Given the description of an element on the screen output the (x, y) to click on. 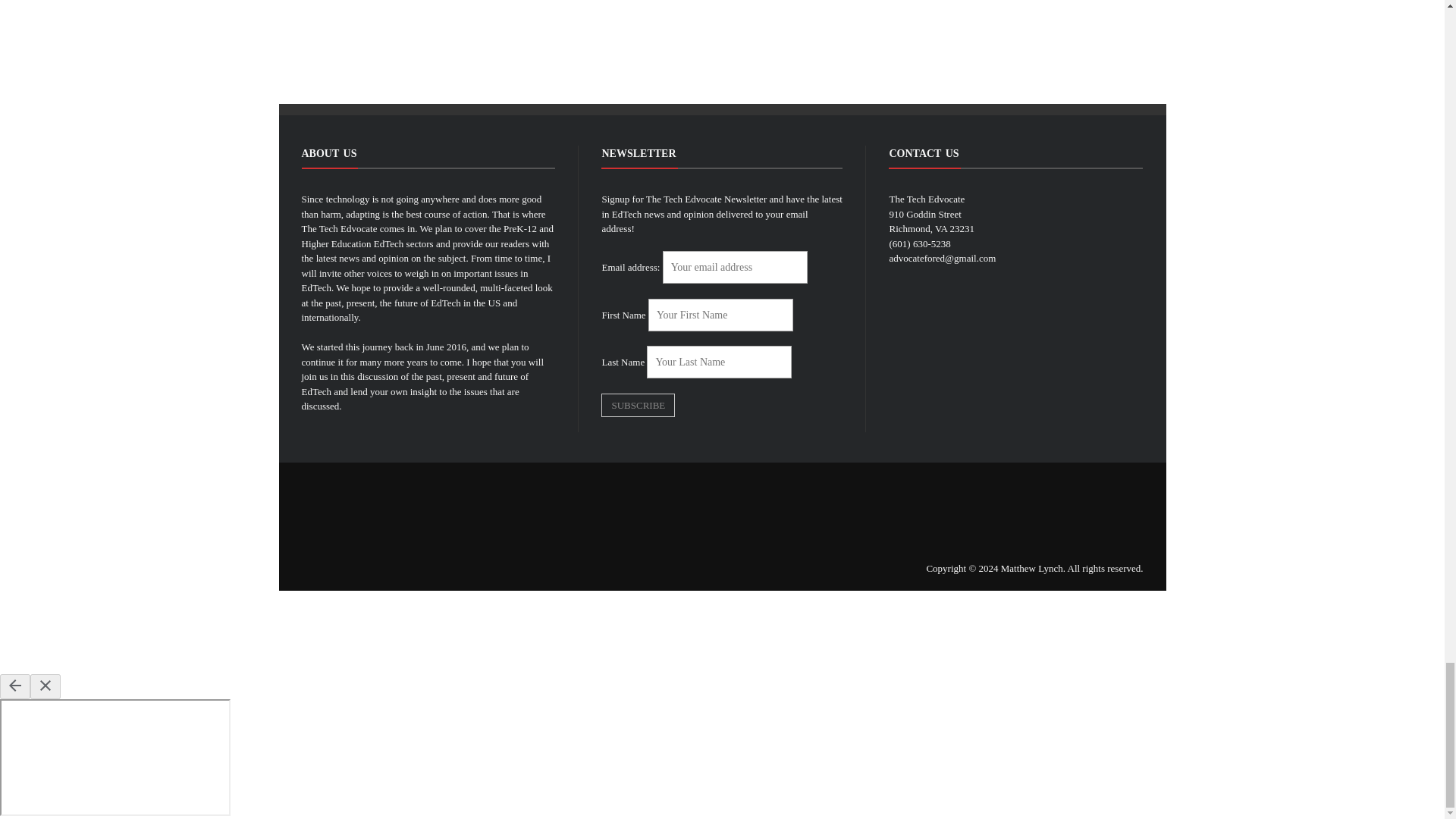
Subscribe (638, 405)
